Given the description of an element on the screen output the (x, y) to click on. 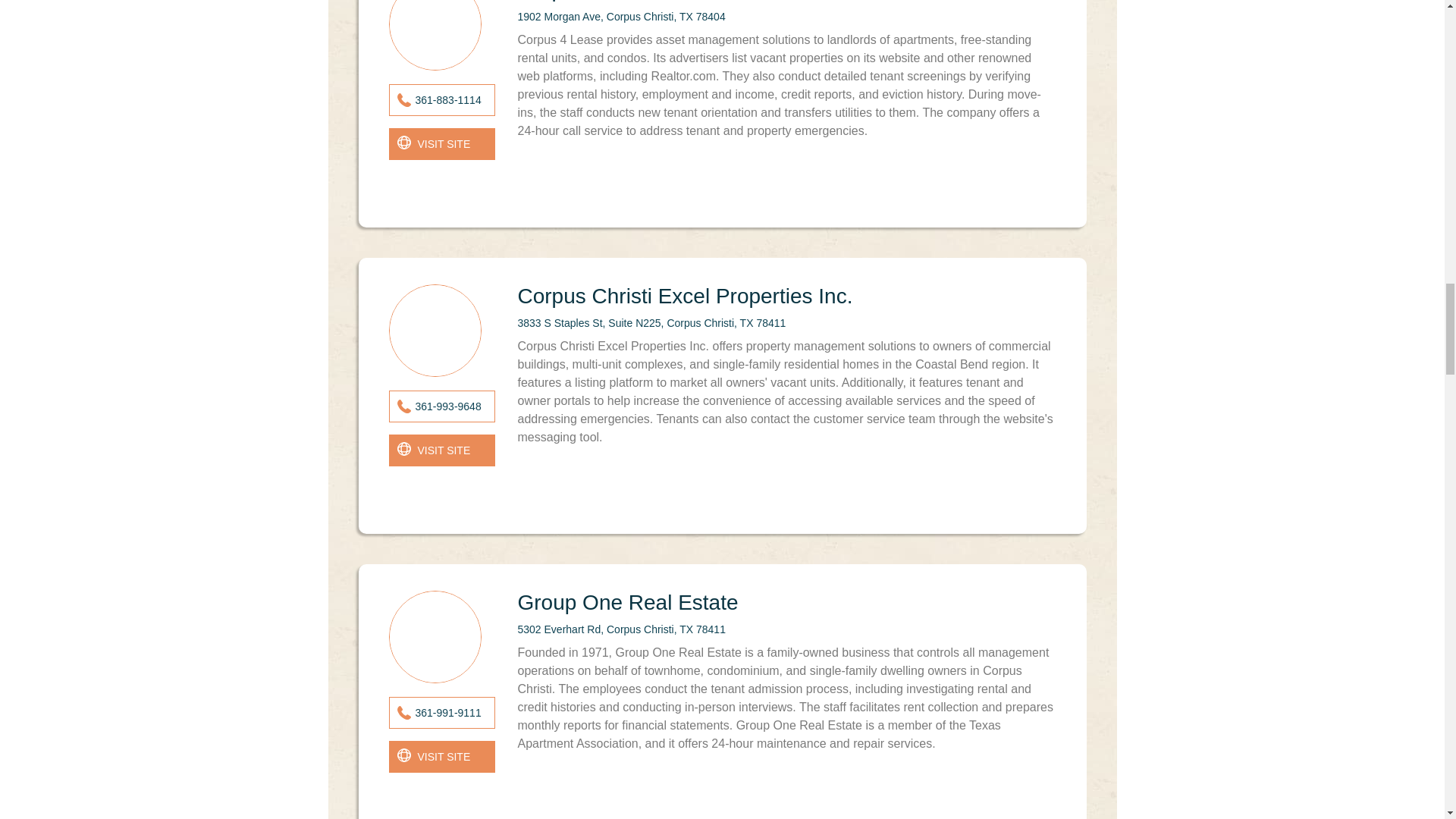
opens in a new window (441, 450)
opens in a new window (441, 757)
opens in a new window (441, 143)
